Given the description of an element on the screen output the (x, y) to click on. 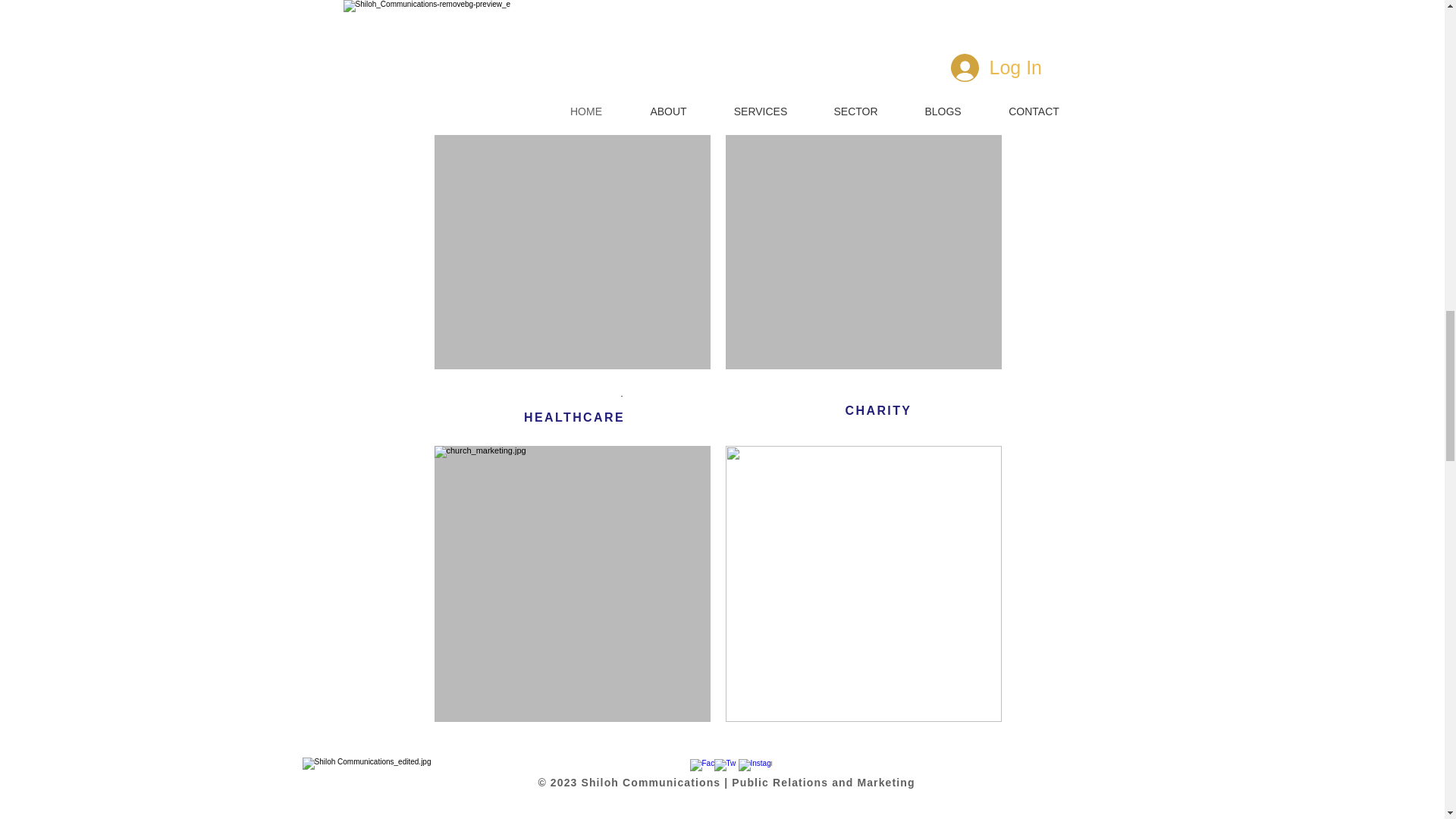
CLEANING COMPANY (872, 763)
CHURCH MARKETING (562, 767)
CHARITY (879, 410)
HEALTHCARE (573, 417)
